Given the description of an element on the screen output the (x, y) to click on. 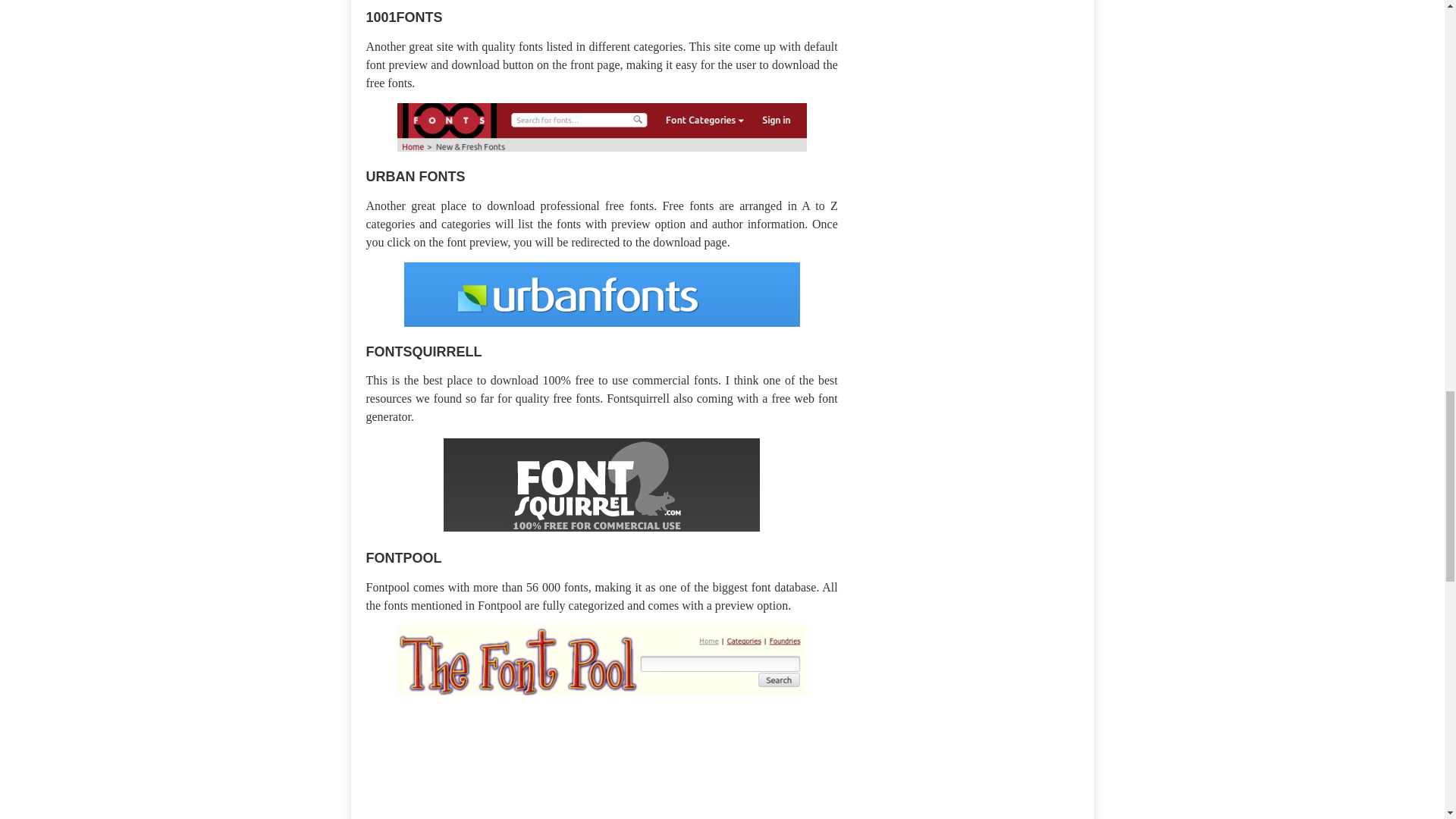
1001FONTS (403, 14)
URBAN FONTS (414, 174)
Advertisement (492, 762)
FONTSQUIRRELL (423, 349)
FONTPOOL (403, 556)
